Given the description of an element on the screen output the (x, y) to click on. 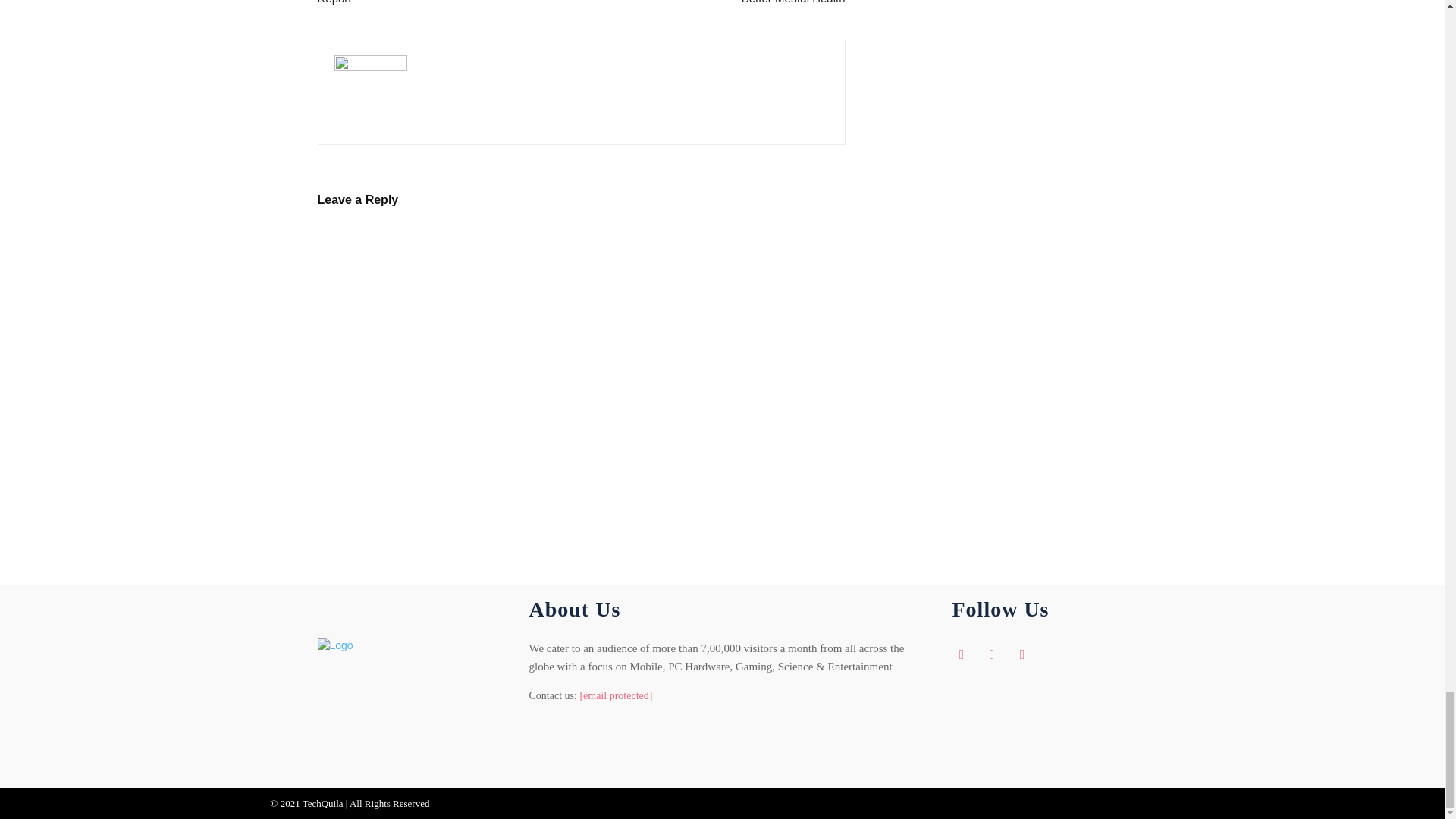
No Vaccine for Climate Change: Alarming Report (439, 2)
